Given the description of an element on the screen output the (x, y) to click on. 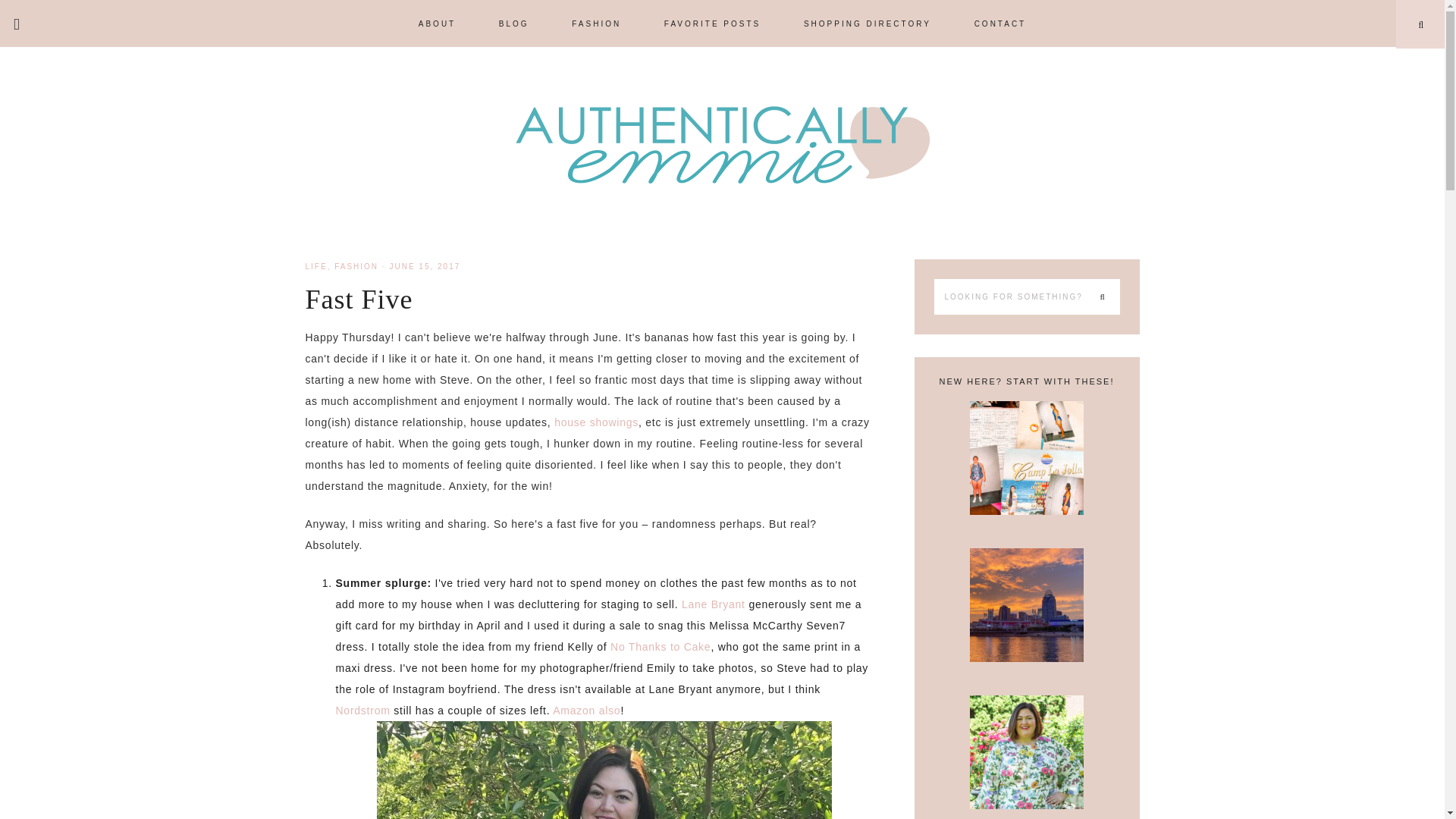
FASHION (595, 22)
FASHION (356, 266)
ABOUT (437, 22)
No Thanks to Cake (660, 646)
house showings (596, 422)
LIFE (315, 266)
BLOG (513, 22)
CONTACT (1000, 22)
FAVORITE POSTS (712, 22)
AUTHENTICALLY EMMIE - EMILY HO (722, 143)
Lane Bryant (713, 604)
Fast Five 1 (603, 770)
SHOPPING DIRECTORY (867, 22)
